Given the description of an element on the screen output the (x, y) to click on. 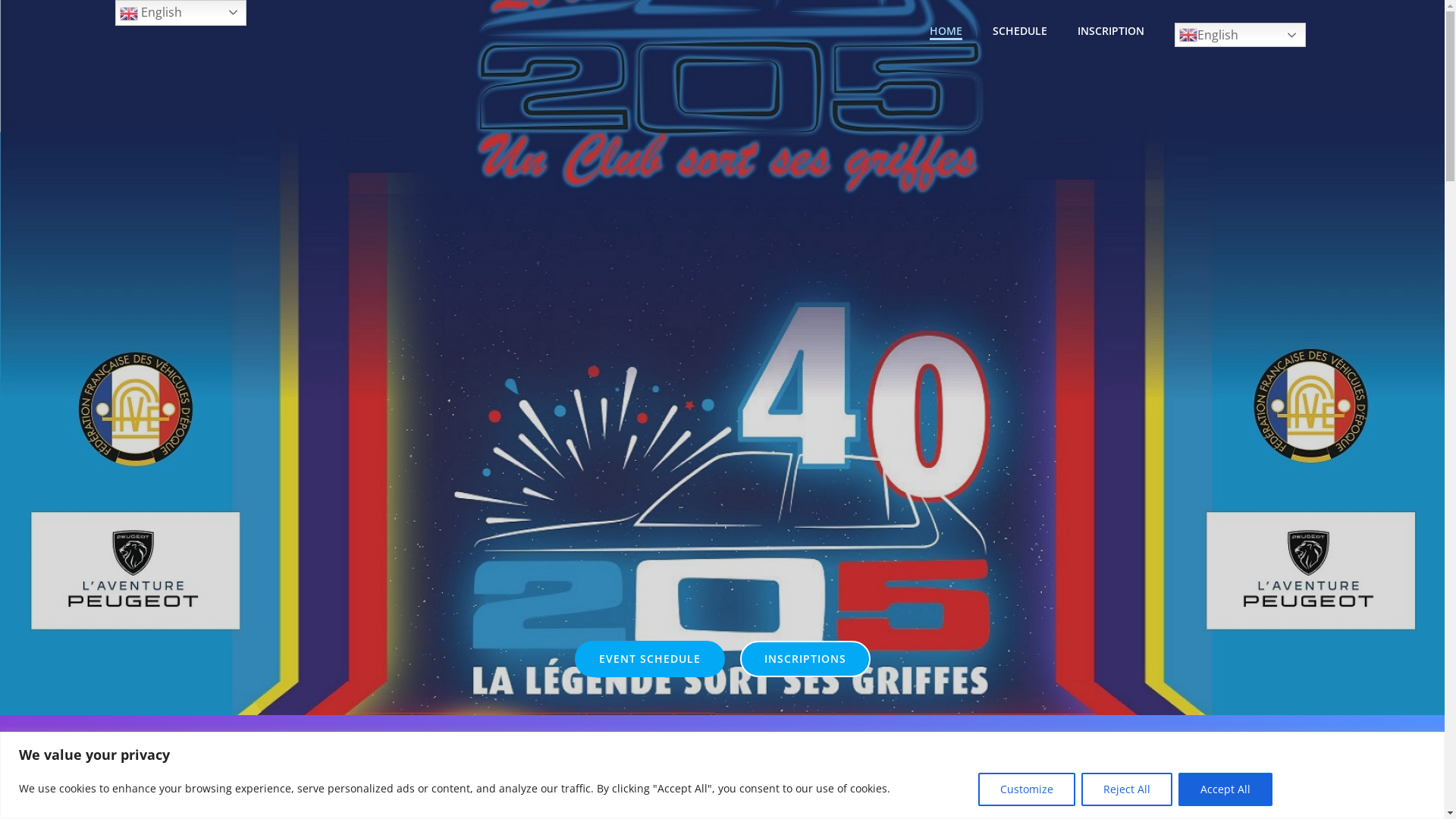
DISCOVER THE EVENT SCHEDULE Element type: text (1059, 759)
Colibri Element type: text (856, 773)
INSCRIPTION Element type: text (1109, 30)
EVENT SCHEDULE Element type: text (649, 658)
Reject All Element type: text (1126, 788)
SCHEDULE Element type: text (1018, 30)
HOME Element type: text (945, 30)
Accept All Element type: text (1225, 788)
INSCRIPTIONS Element type: text (805, 658)
English Element type: text (1239, 34)
Customize Element type: text (1026, 788)
English Element type: text (180, 12)
